Given the description of an element on the screen output the (x, y) to click on. 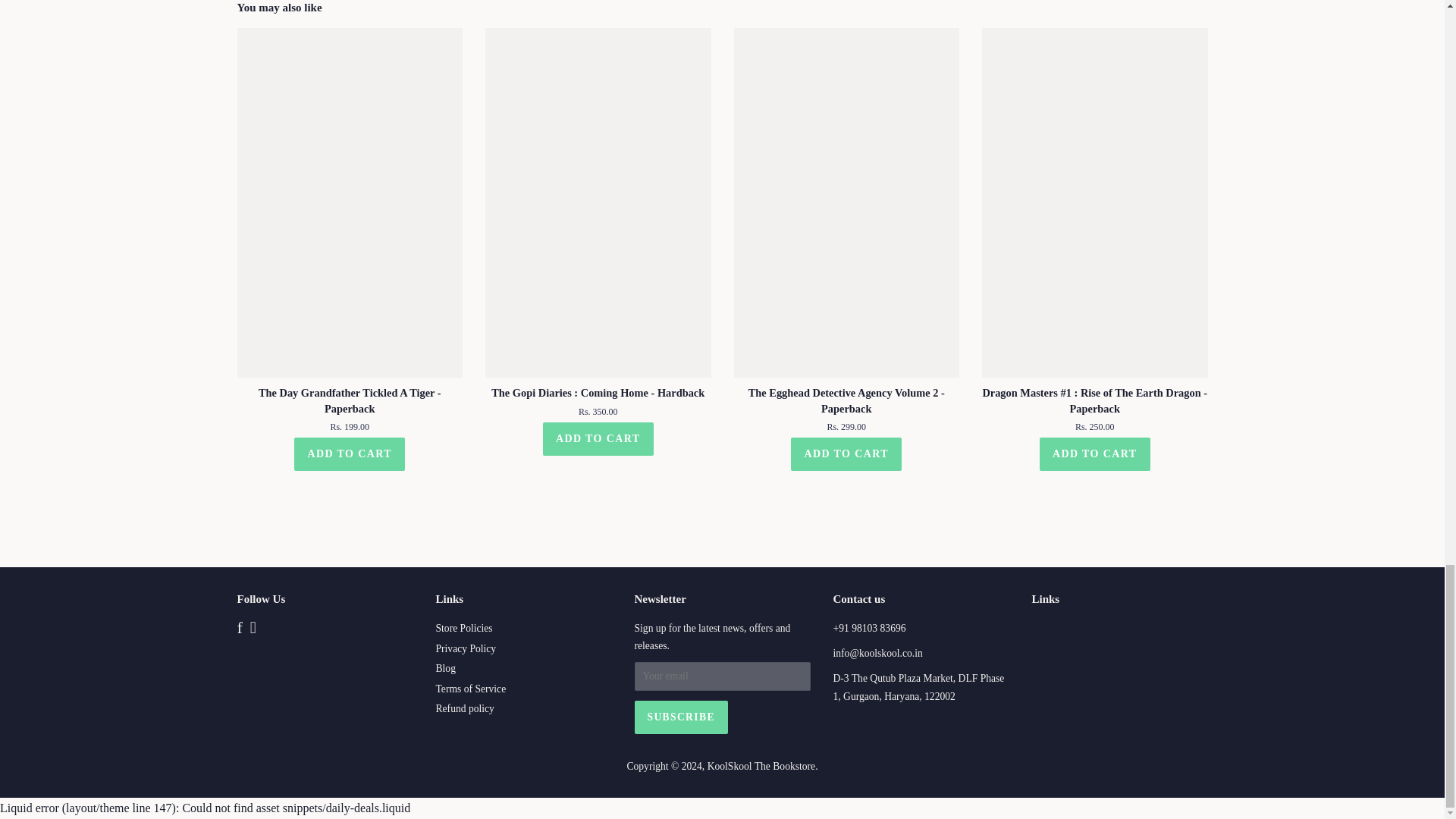
Add to cart (1094, 453)
Add to cart (349, 453)
Add to cart (845, 453)
Add to cart (598, 438)
Subscribe (679, 717)
